Given the description of an element on the screen output the (x, y) to click on. 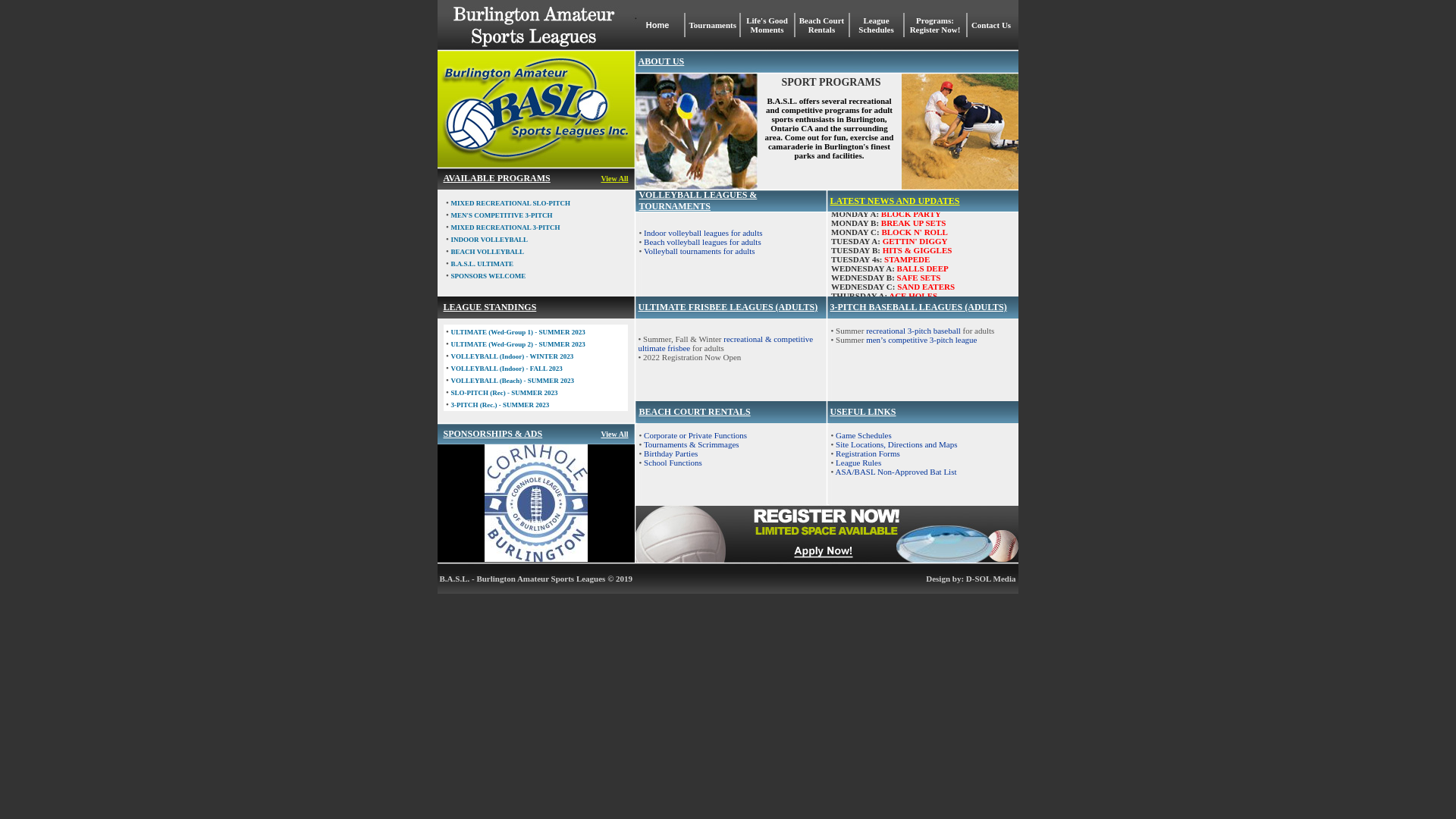
View All Element type: text (613, 178)
Indoor volleyball leagues for adults Element type: text (702, 232)
recreational 3-pitch baseball Element type: text (911, 330)
Volleyball tournaments for adults Element type: text (699, 250)
Corporate or Private Functions Element type: text (694, 434)
Birthday Parties Element type: text (670, 453)
Programs: Register Now! Element type: text (934, 24)
Game Schedules Element type: text (863, 434)
Site Locations, Directions and Maps Element type: text (896, 443)
Tournaments & Scrimmages Element type: text (691, 443)
School Functions Element type: text (672, 462)
Tournaments Element type: text (712, 24)
Home Element type: text (656, 24)
Registration Forms Element type: text (867, 453)
Contact Us Element type: text (991, 24)
View All Element type: text (613, 433)
ASA/BASL Non-Approved Bat List Element type: text (896, 471)
Life's Good Moments Element type: text (766, 24)
Beach volleyball leagues for adults Element type: text (702, 241)
Beach Court Rentals Element type: text (820, 24)
Design by: D-SOL Media Element type: text (970, 577)
League Rules Element type: text (858, 462)
recreational & competitive ultimate frisbee Element type: text (725, 343)
League Schedules Element type: text (875, 24)
